Given the description of an element on the screen output the (x, y) to click on. 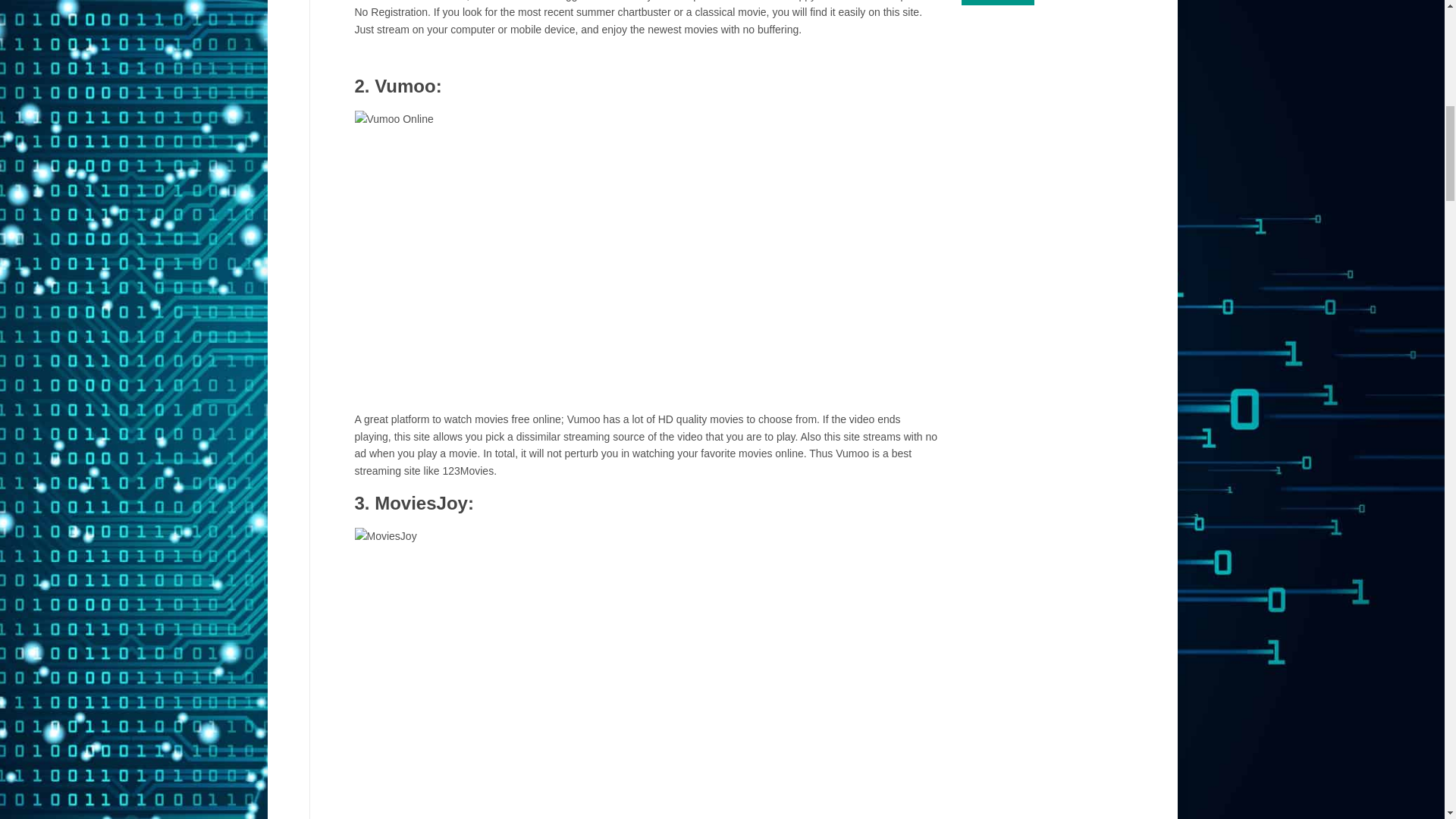
Vumoo (404, 86)
MoviesJoy (420, 503)
Subscribe (996, 2)
